Given the description of an element on the screen output the (x, y) to click on. 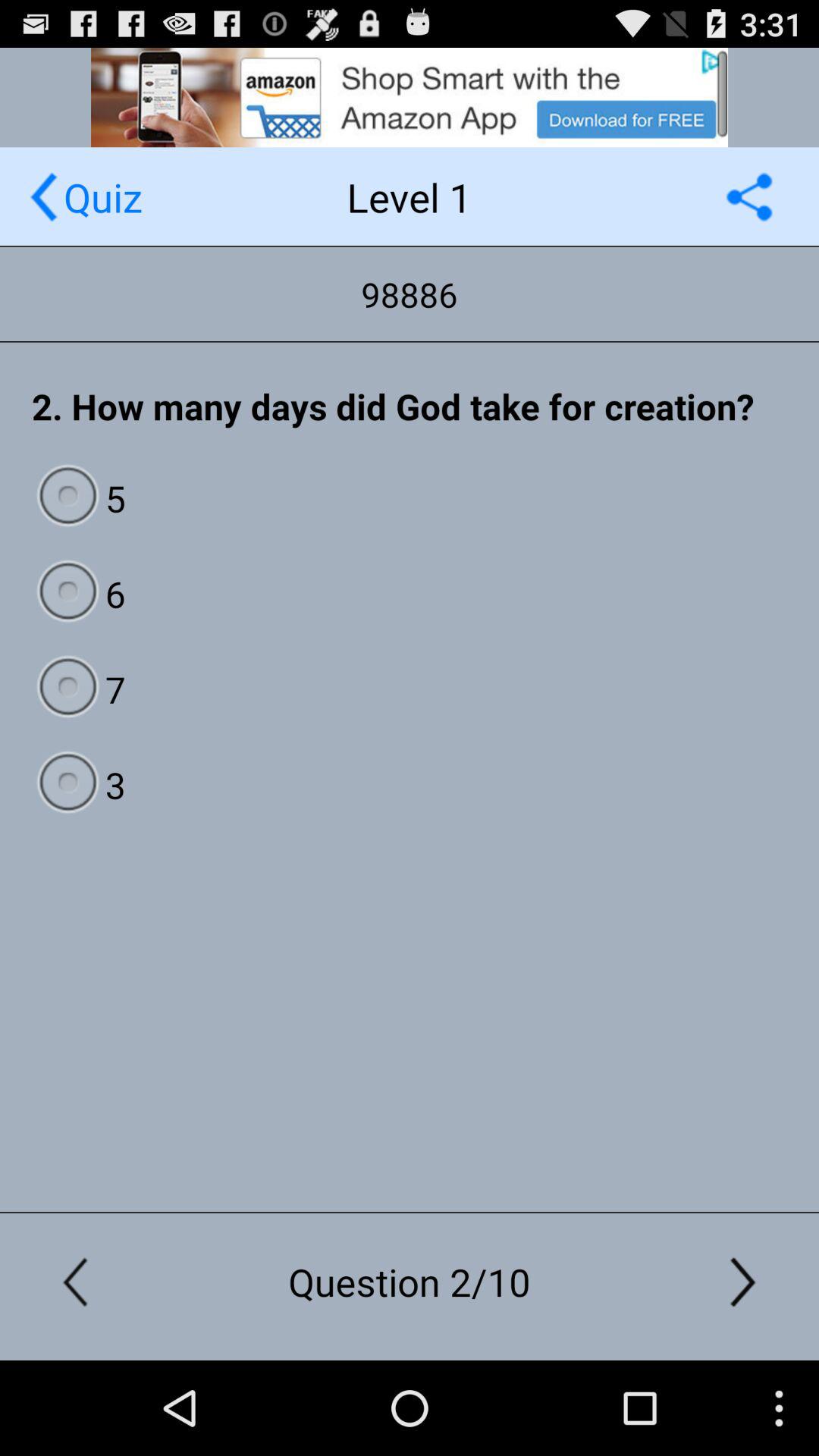
privious page (43, 196)
